Given the description of an element on the screen output the (x, y) to click on. 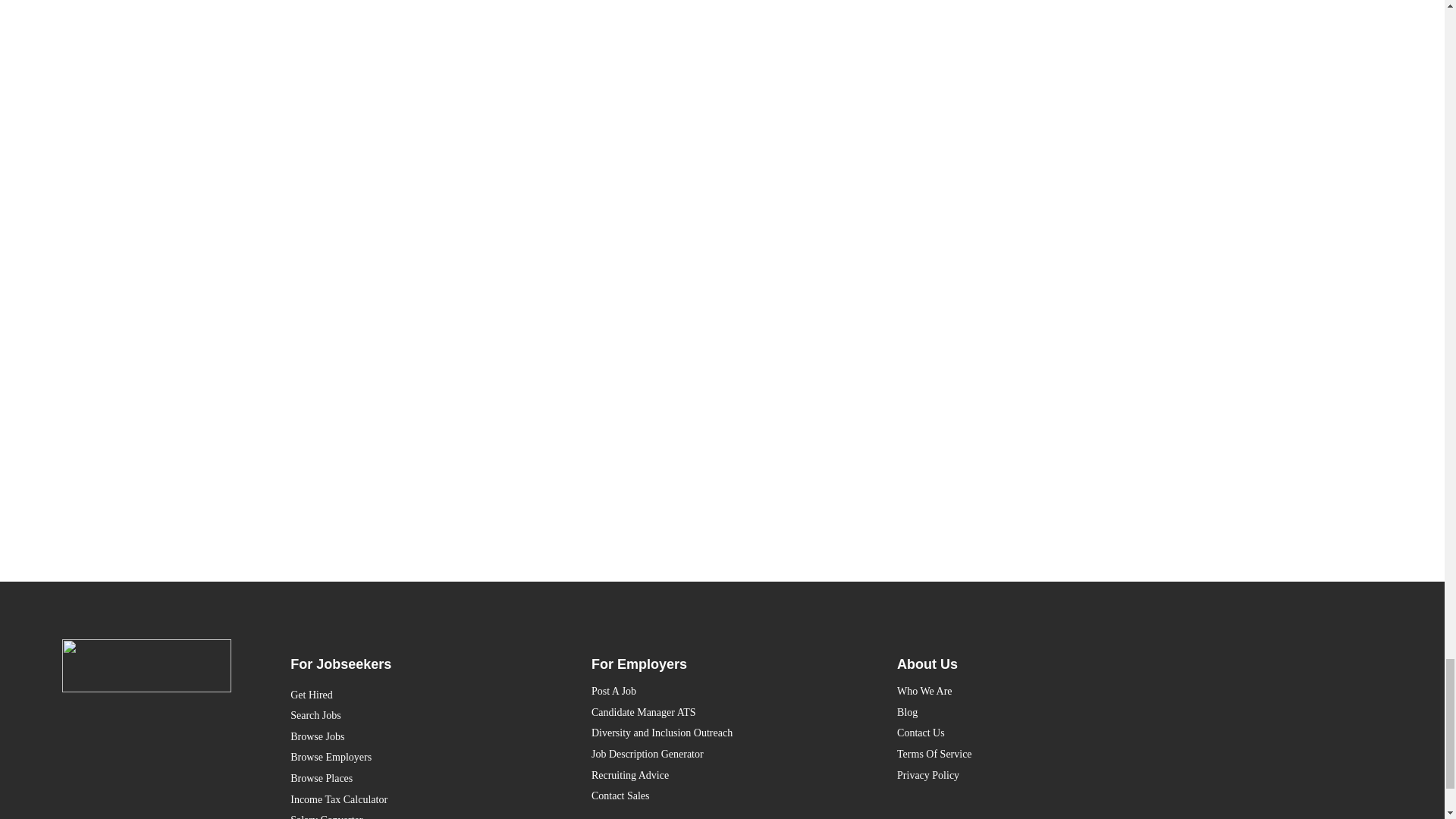
Browse Jobs (410, 736)
Salary Converter (410, 814)
Browse Places (410, 778)
Get Hired (410, 694)
Search Jobs (410, 715)
Browse Employers (410, 757)
Income Tax Calculator (410, 799)
